Given the description of an element on the screen output the (x, y) to click on. 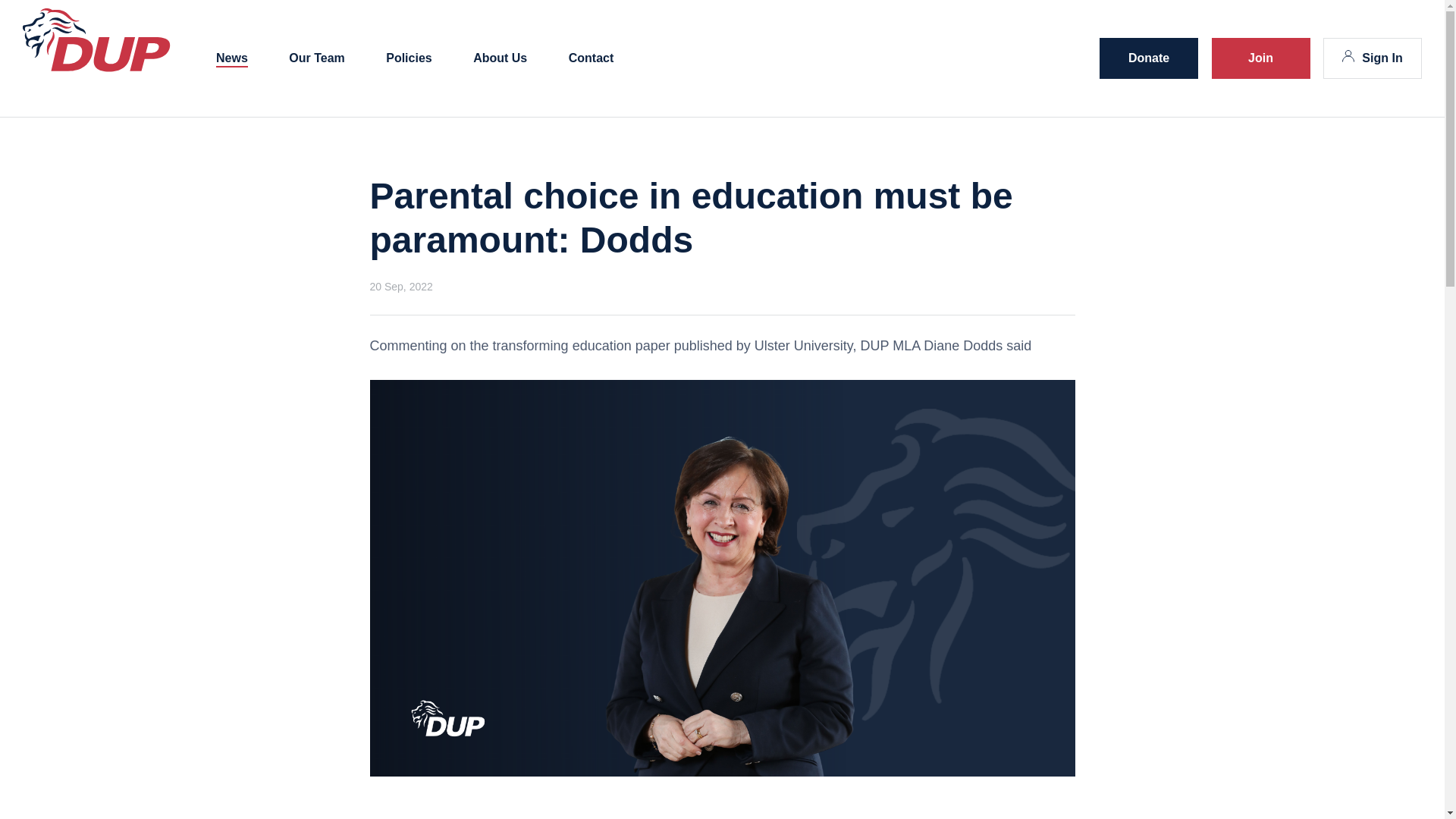
Icon (1348, 55)
Branding (96, 40)
About Us (500, 59)
Join (1260, 57)
Policies (407, 59)
Contact (591, 59)
Return to Homepage (96, 67)
Donate (1148, 57)
Branding (96, 67)
News (231, 59)
Our Team (316, 59)
Icon Sign In (1372, 57)
